Given the description of an element on the screen output the (x, y) to click on. 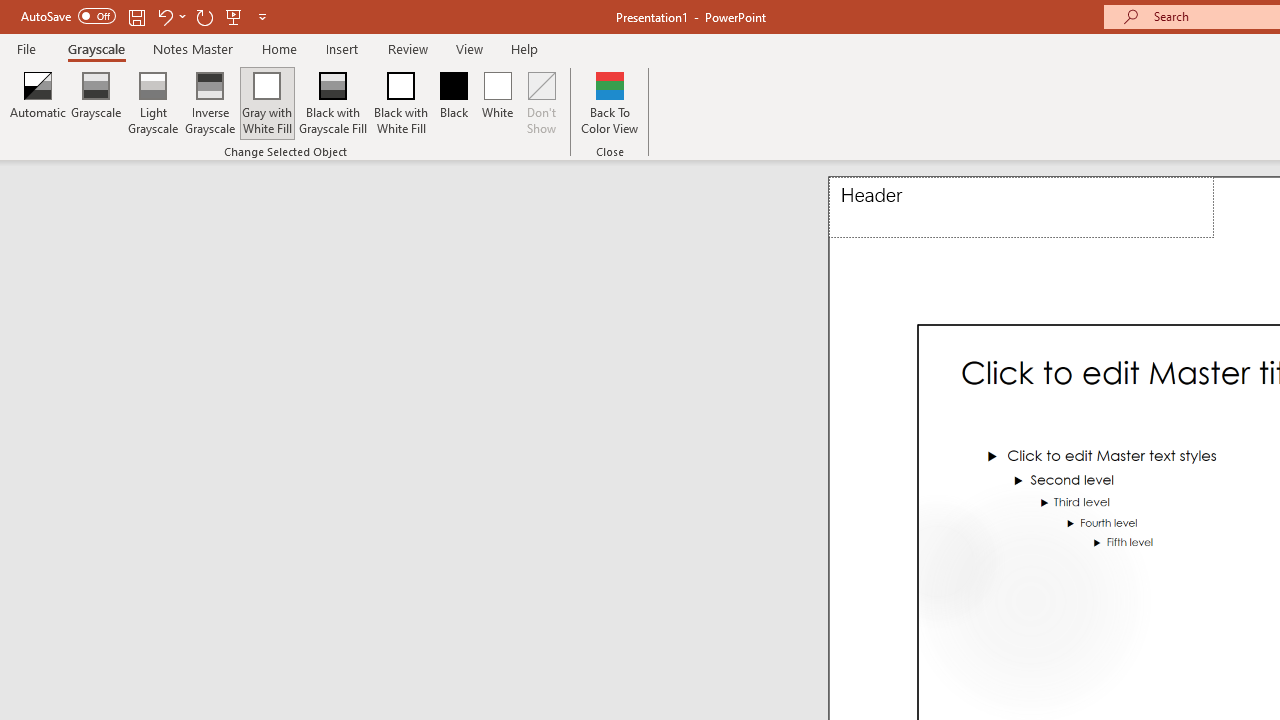
Grayscale (96, 102)
Black (453, 102)
Back To Color View (609, 102)
White (497, 102)
Black with White Fill (401, 102)
Gray with White Fill (267, 102)
